Given the description of an element on the screen output the (x, y) to click on. 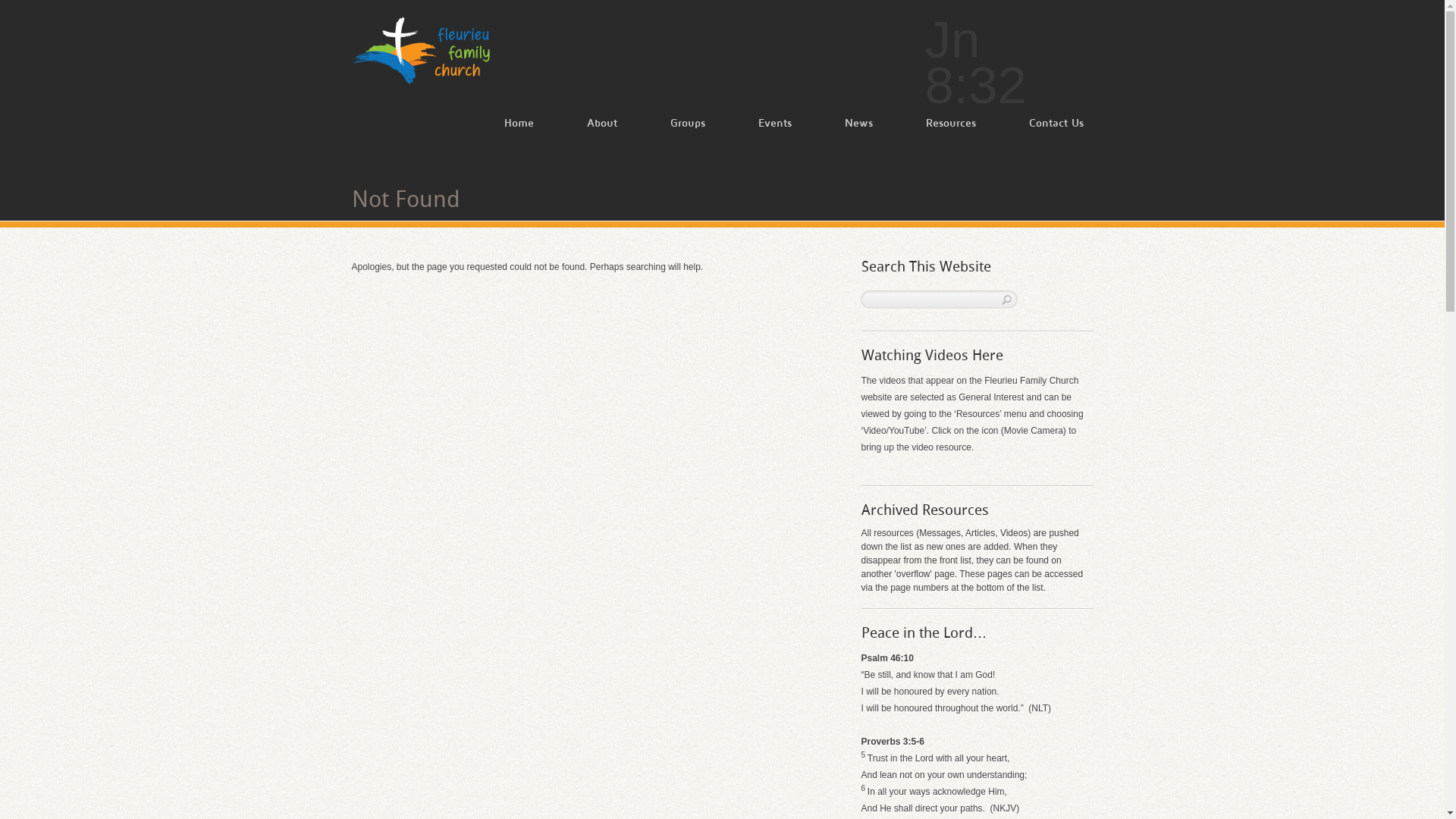
Events Element type: text (748, 125)
News Element type: text (831, 125)
Search Element type: text (1004, 300)
About Element type: text (575, 125)
Home Element type: text (491, 125)
Jn 8:32 Element type: text (1009, 55)
Groups Element type: text (661, 125)
Resources Element type: text (923, 125)
Contact Us Element type: text (1028, 125)
